Given the description of an element on the screen output the (x, y) to click on. 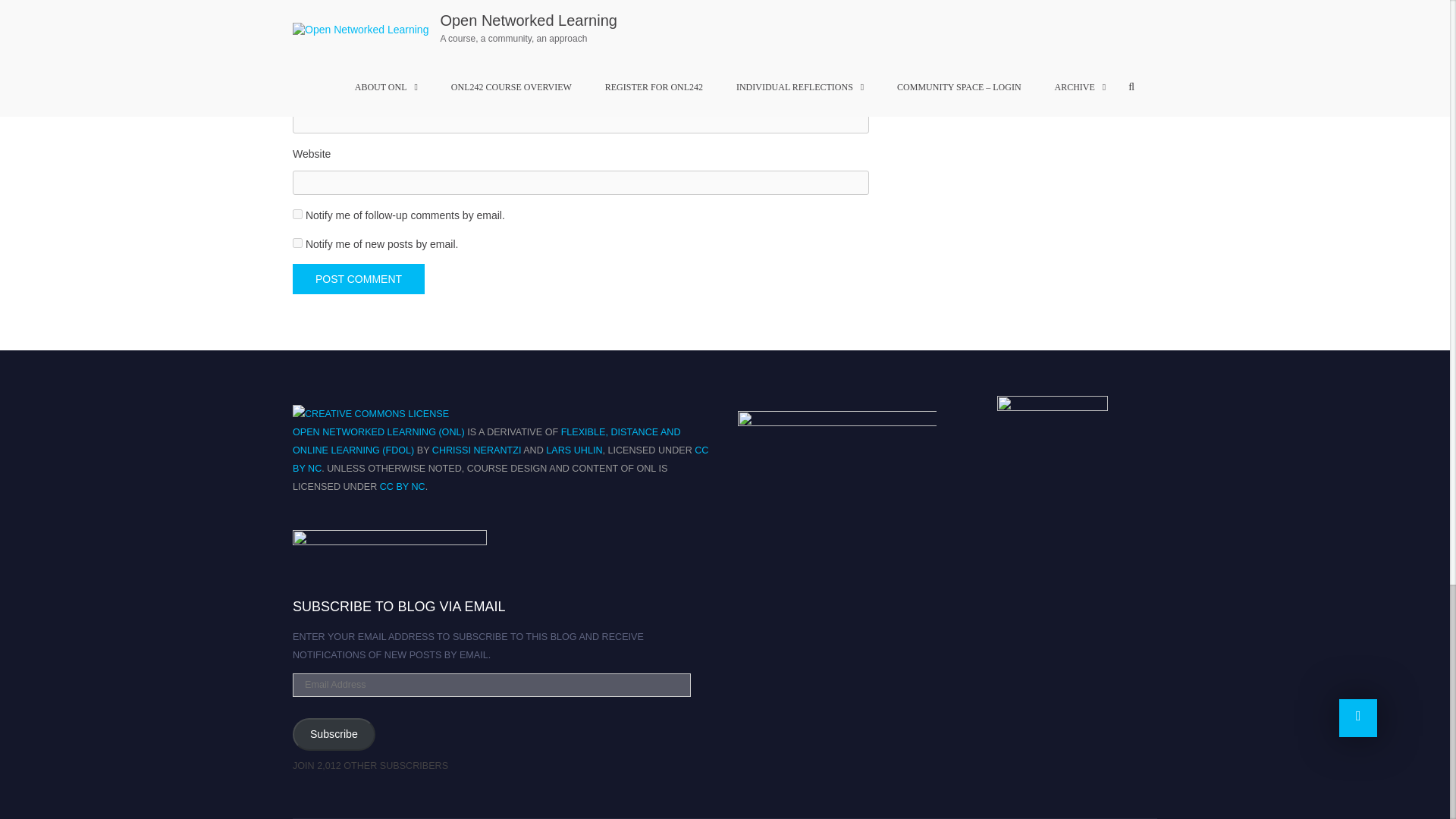
Post Comment (358, 278)
subscribe (297, 243)
subscribe (297, 214)
